Given the description of an element on the screen output the (x, y) to click on. 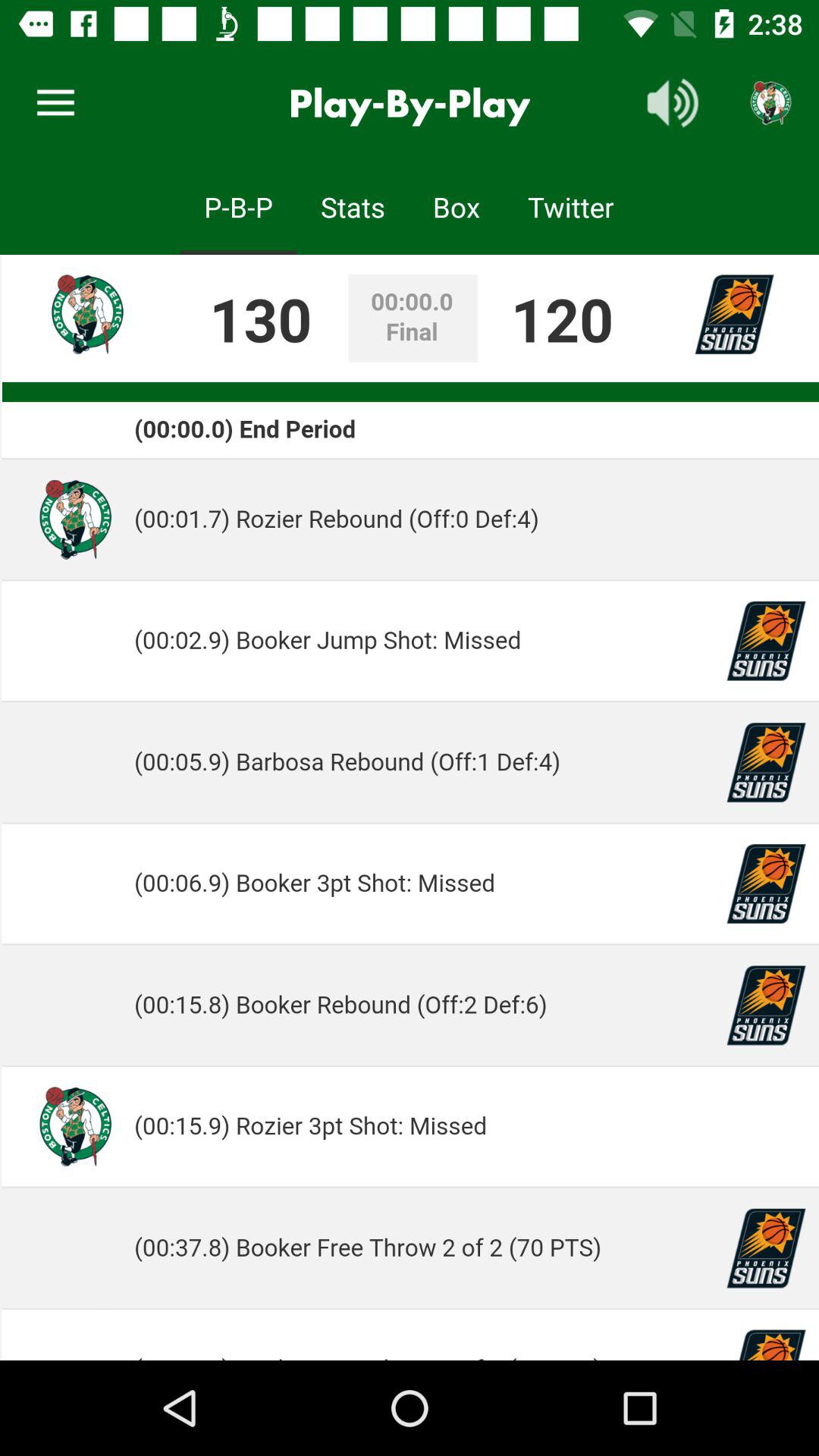
select the advertisement (409, 807)
